Given the description of an element on the screen output the (x, y) to click on. 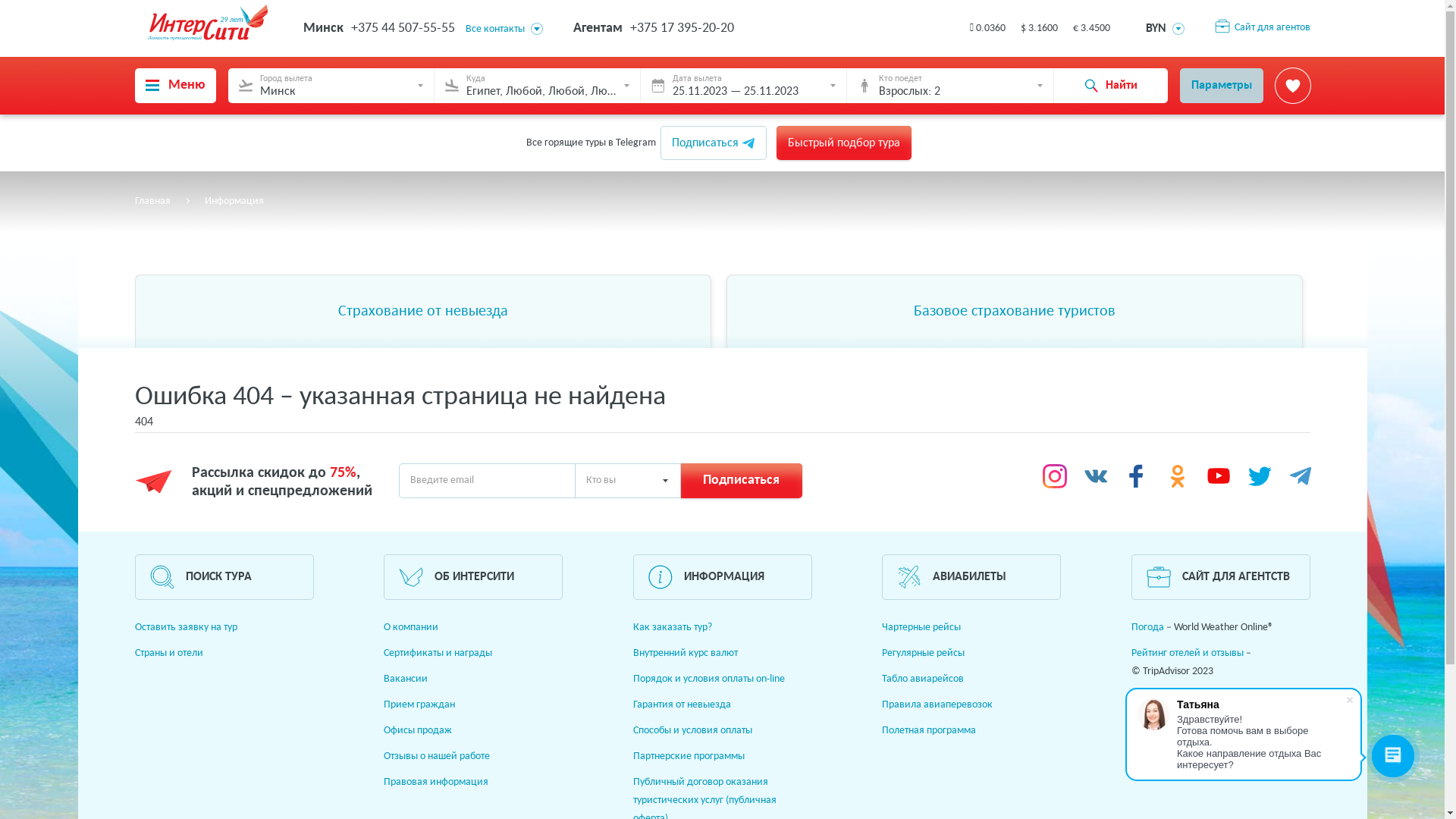
facebook: intercitybytour Element type: hover (1136, 476)
odnoklassniki: intercityby Element type: hover (1177, 476)
+375 17 395-20-20 Element type: text (681, 28)
Twitter: @intercity_by Element type: hover (1259, 476)
Vk: intercityby Element type: hover (1095, 476)
Youtube: intercitybelarus Element type: hover (1218, 476)
Instagram: @intercity.by Element type: hover (1054, 476)
+375 44 504-55-55 Element type: text (402, 28)
Telegram: @inter_city Element type: hover (1300, 476)
